Given the description of an element on the screen output the (x, y) to click on. 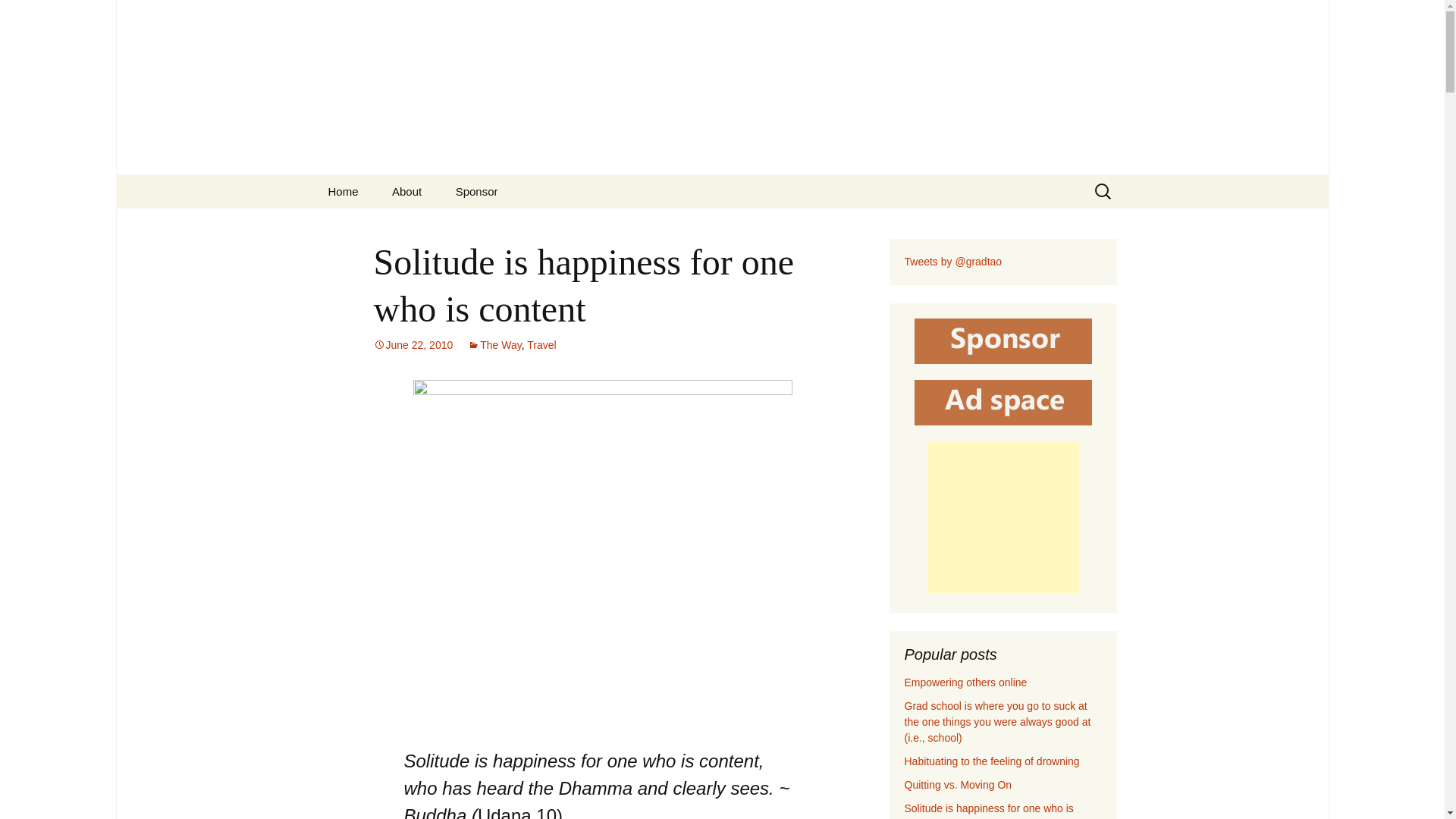
Home (342, 191)
Skip to content (353, 183)
Search for: (1103, 191)
About (406, 191)
Sponsor (477, 191)
The Way (494, 345)
Permalink to Solitude is happiness for one who is content (412, 345)
June 22, 2010 (412, 345)
Skip to content (353, 183)
